Given the description of an element on the screen output the (x, y) to click on. 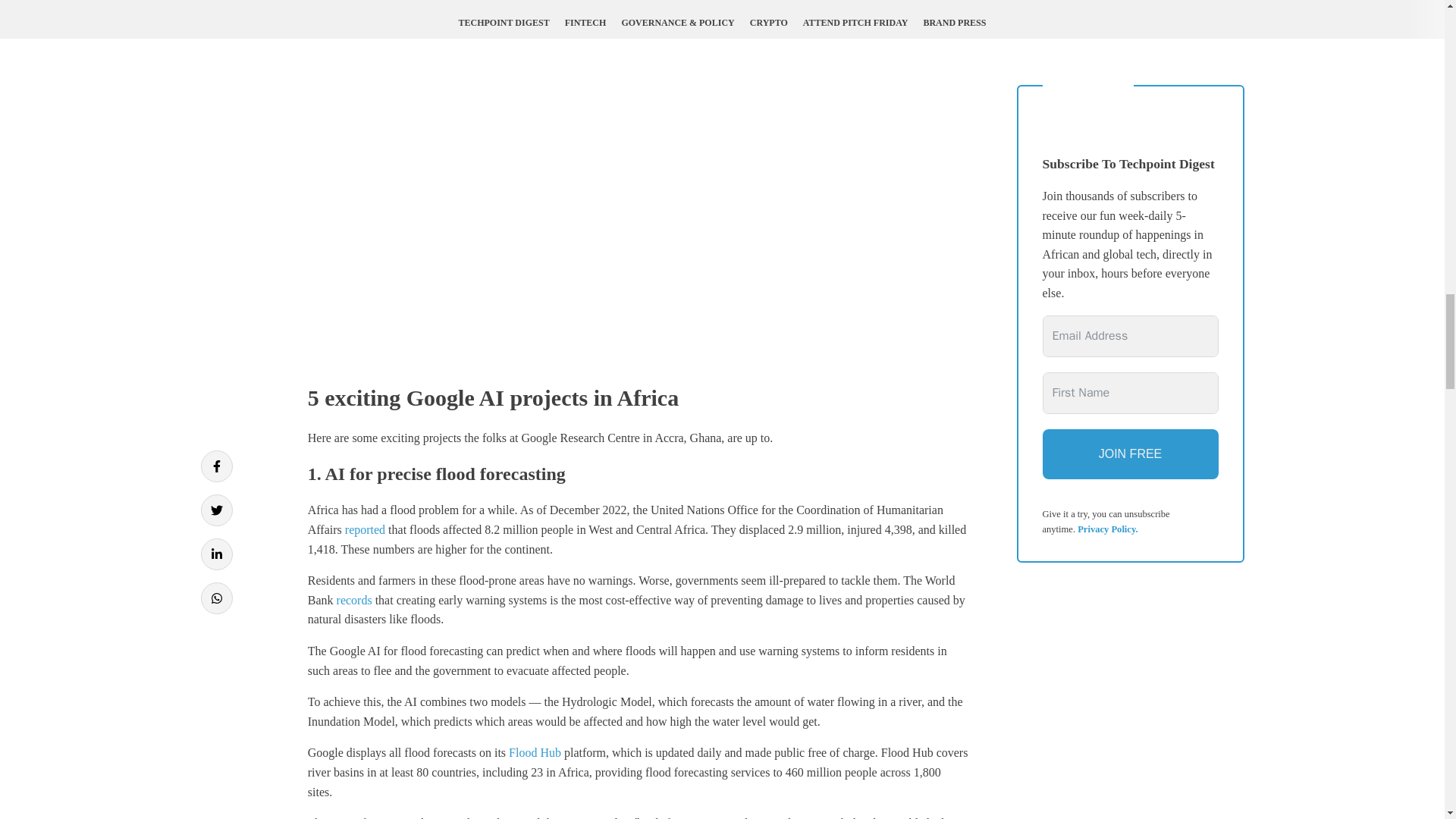
Flood Hub (534, 752)
records (354, 599)
reported (365, 529)
